Given the description of an element on the screen output the (x, y) to click on. 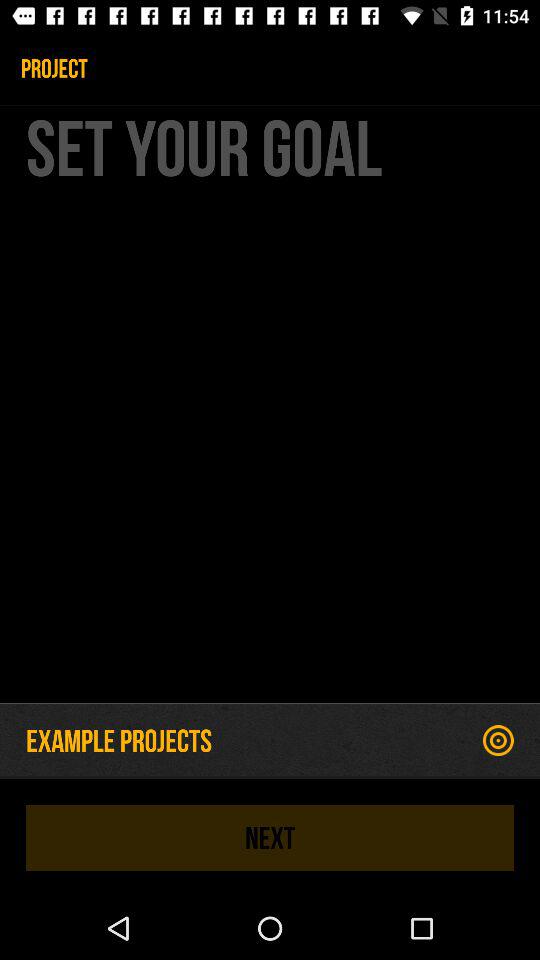
jump until the next (269, 837)
